Given the description of an element on the screen output the (x, y) to click on. 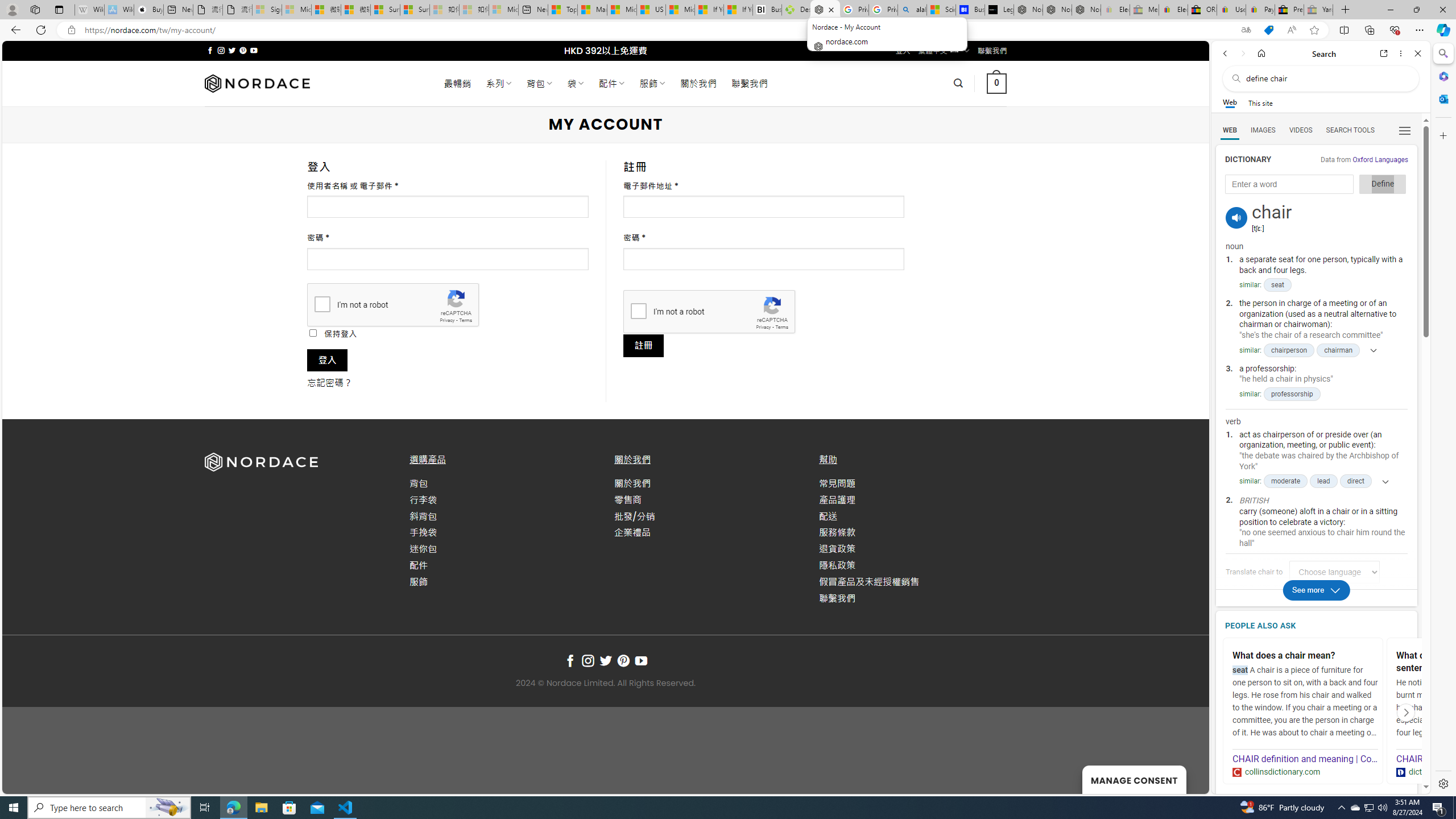
Define (1382, 184)
